Given the description of an element on the screen output the (x, y) to click on. 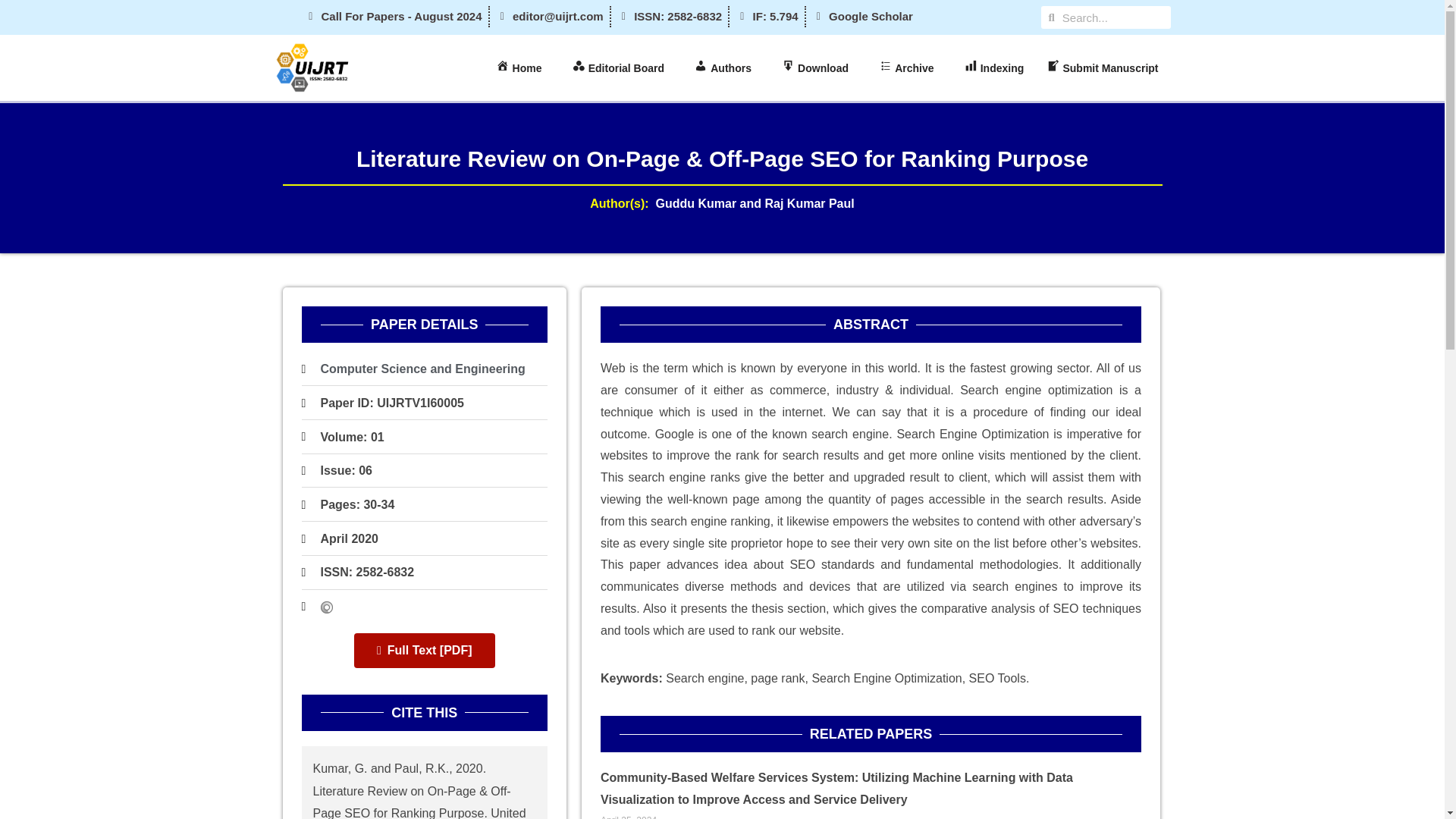
Home (522, 68)
Publication Date (348, 538)
Computer Science and Engineering (422, 368)
Download (818, 68)
Authors (726, 68)
Archive (910, 68)
Volume (352, 436)
Paper ID (391, 403)
Pages (357, 504)
Call For Papers - August 2024 (392, 16)
Indexing (994, 68)
ISSN: 2582-6832 (669, 16)
Google Scholar (862, 16)
IF: 5.794 (766, 16)
Issue (345, 470)
